Given the description of an element on the screen output the (x, y) to click on. 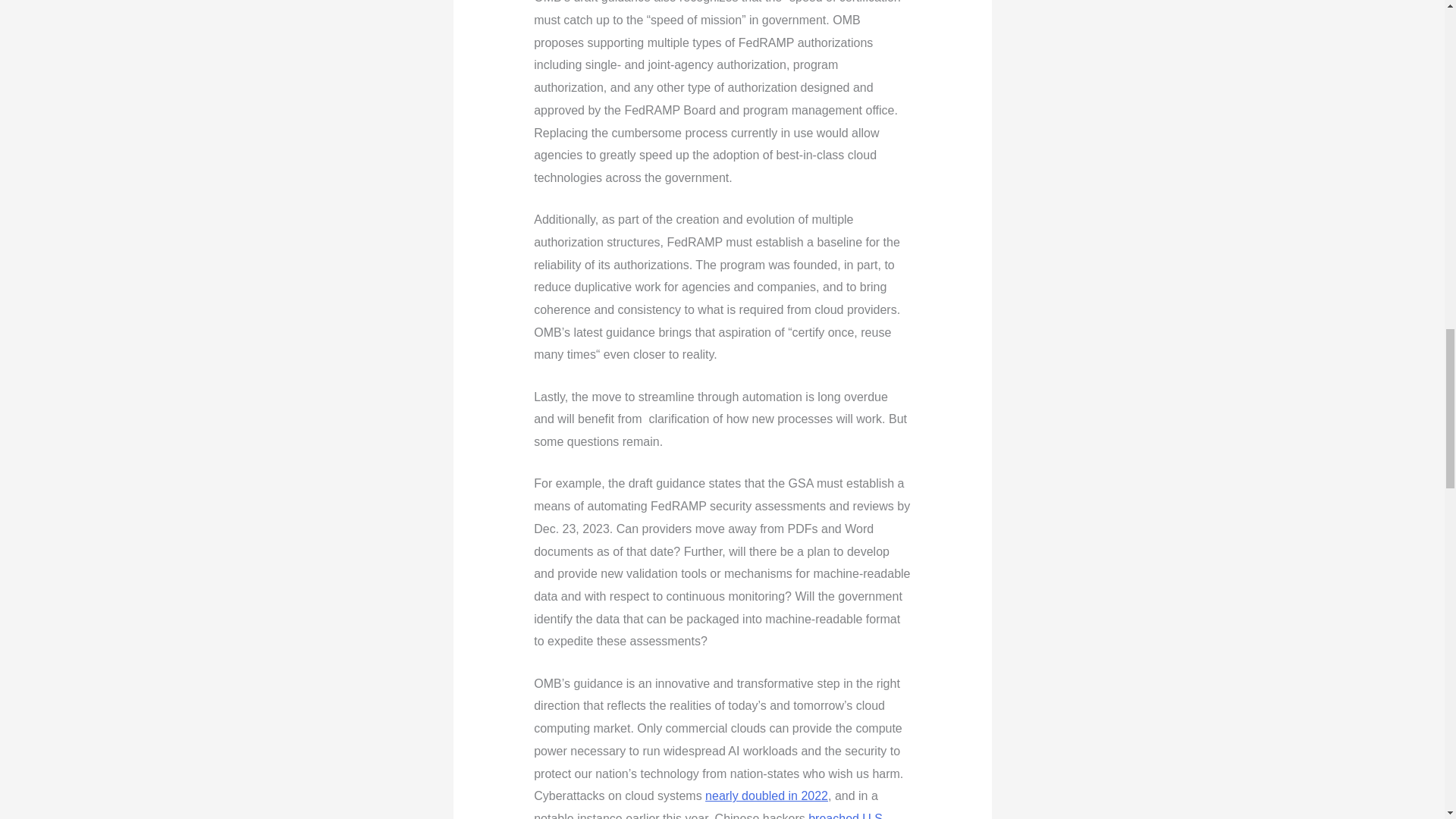
breached U.S. government email accounts (709, 815)
nearly doubled in 2022 (766, 795)
